Given the description of an element on the screen output the (x, y) to click on. 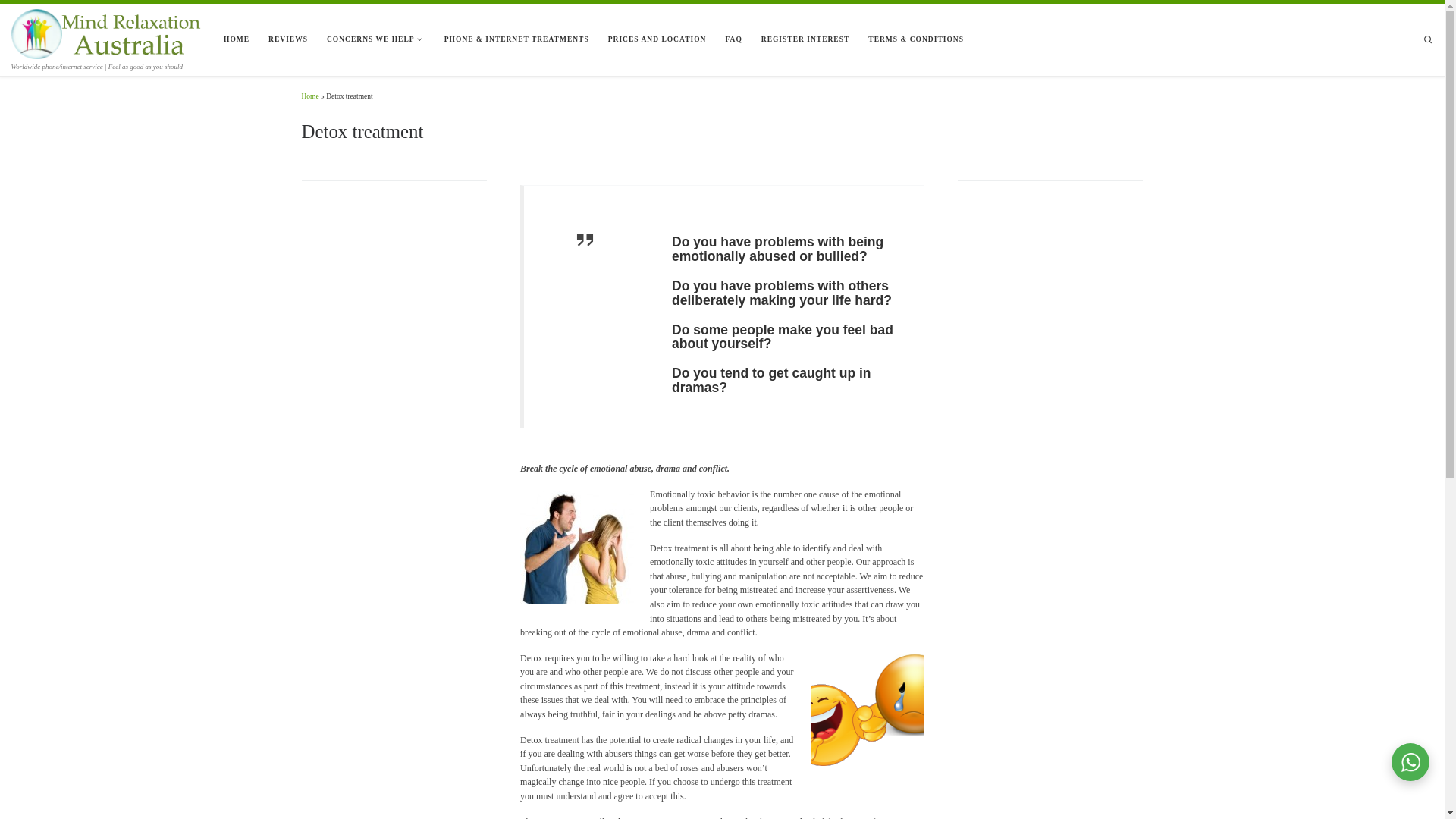
REVIEWS Element type: text (287, 39)
HOME Element type: text (236, 39)
FAQ Element type: text (733, 39)
PHONE & INTERNET TREATMENTS Element type: text (516, 39)
PRICES AND LOCATION Element type: text (656, 39)
TERMS & CONDITIONS Element type: text (915, 39)
REGISTER INTEREST Element type: text (805, 39)
Skip to content Element type: text (44, 18)
Search Element type: text (1427, 39)
CONCERNS WE HELP Element type: text (375, 39)
Home Element type: text (310, 96)
